Given the description of an element on the screen output the (x, y) to click on. 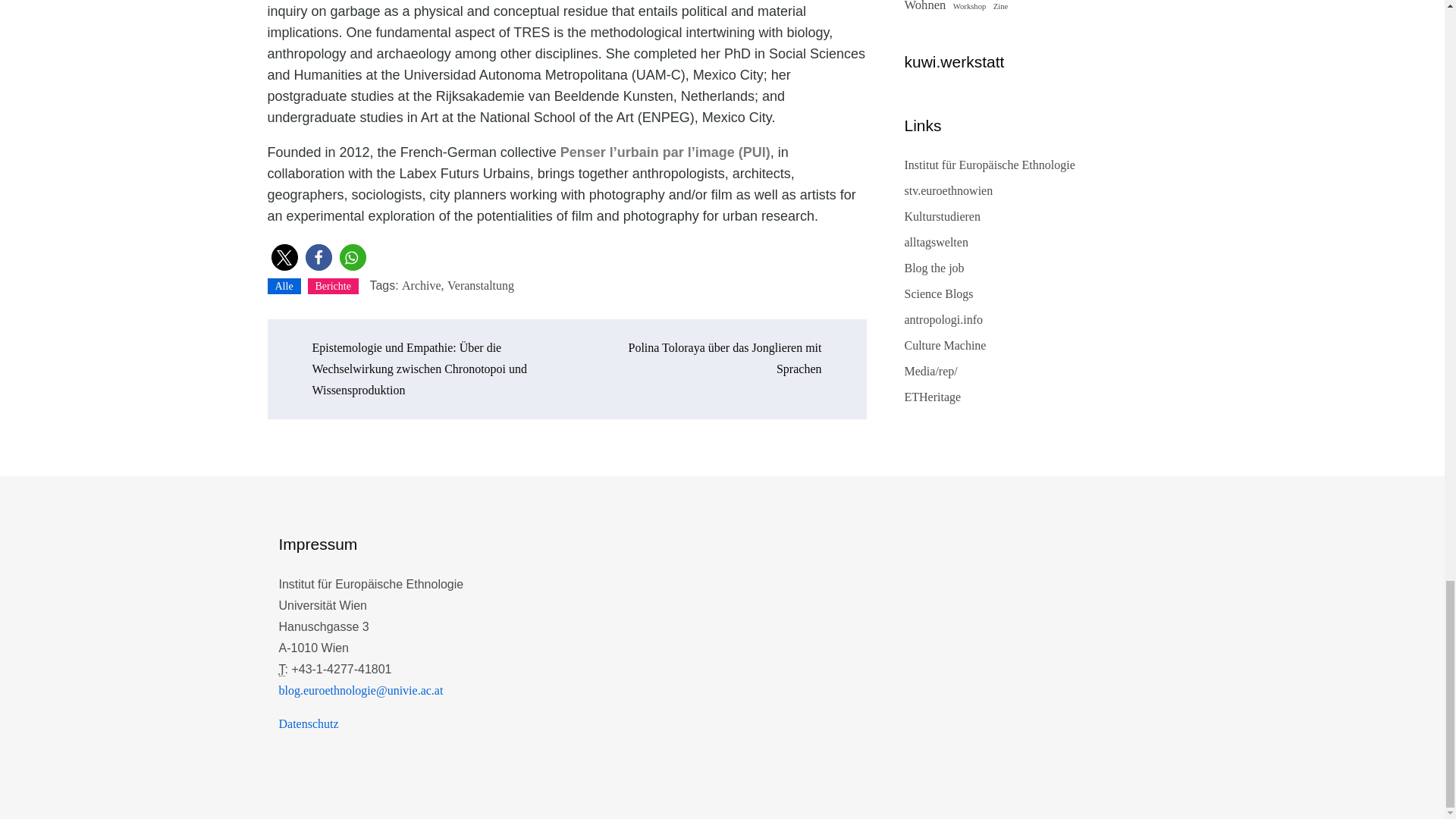
Archive (422, 285)
Bonner Perspektiven der Kulturanalyse (936, 241)
Berichte (332, 286)
Bei Whatsapp teilen (352, 257)
Bei X teilen (284, 257)
Alle (282, 286)
Bei Facebook teilen (317, 257)
Veranstaltung (479, 285)
